Given the description of an element on the screen output the (x, y) to click on. 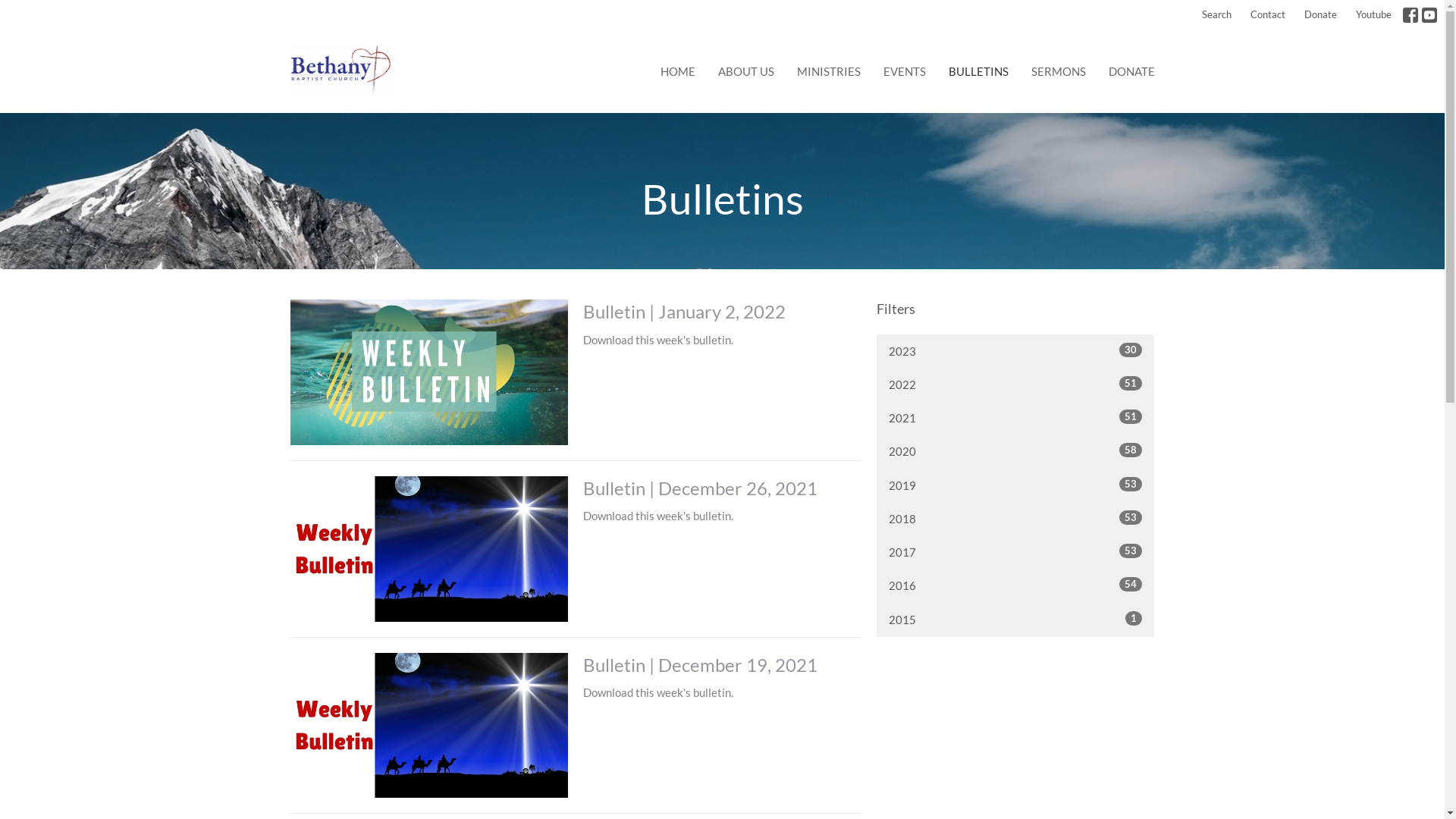
Youtube Element type: text (1373, 14)
Bulletin | January 2, 2022
Download this week's bulletin. Element type: text (575, 372)
Bulletin | December 26, 2021
Download this week's bulletin. Element type: text (575, 548)
2023
30 Element type: text (1015, 351)
2016
54 Element type: text (1015, 585)
HOME Element type: text (676, 71)
ABOUT US Element type: text (745, 71)
Donate Element type: text (1320, 14)
DONATE Element type: text (1131, 71)
2019
53 Element type: text (1015, 485)
Search Element type: text (1216, 14)
BULLETINS Element type: text (977, 71)
2022
51 Element type: text (1015, 384)
2021
51 Element type: text (1015, 418)
Bulletin | December 19, 2021
Download this week's bulletin. Element type: text (575, 725)
2015
1 Element type: text (1015, 619)
MINISTRIES Element type: text (827, 71)
2020
58 Element type: text (1015, 451)
Contact Element type: text (1267, 14)
2017
53 Element type: text (1015, 552)
SERMONS Element type: text (1058, 71)
2018
53 Element type: text (1015, 519)
EVENTS Element type: text (903, 71)
